Given the description of an element on the screen output the (x, y) to click on. 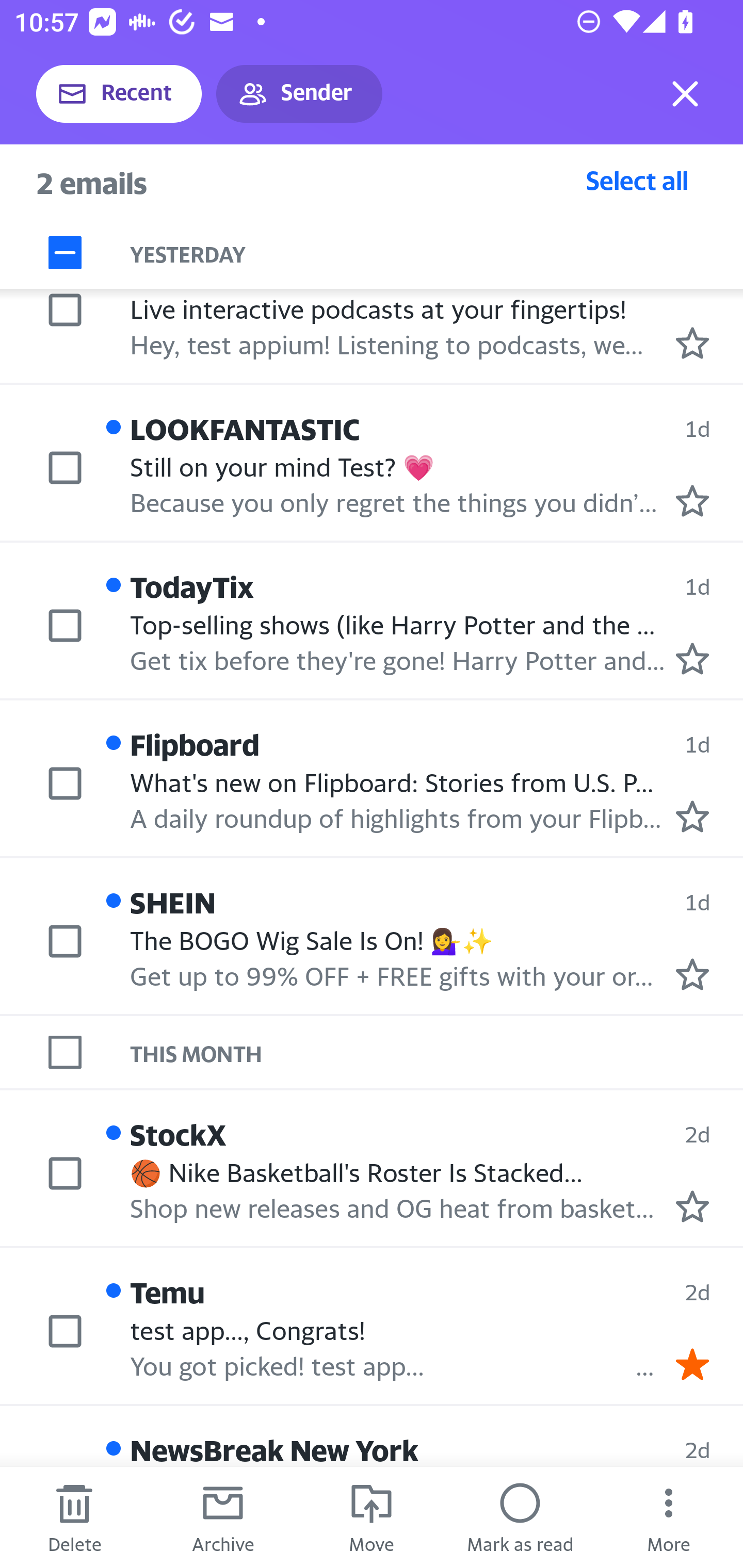
Sender (299, 93)
Exit selection mode (684, 93)
Select all (637, 180)
Mark as starred. (692, 342)
Mark as starred. (692, 500)
Mark as starred. (692, 659)
Mark as starred. (692, 816)
Mark as starred. (692, 974)
THIS MONTH (436, 1052)
Mark as starred. (692, 1206)
Remove star. (692, 1364)
Delete (74, 1517)
Archive (222, 1517)
Move (371, 1517)
Mark as read (519, 1517)
More (668, 1517)
